Given the description of an element on the screen output the (x, y) to click on. 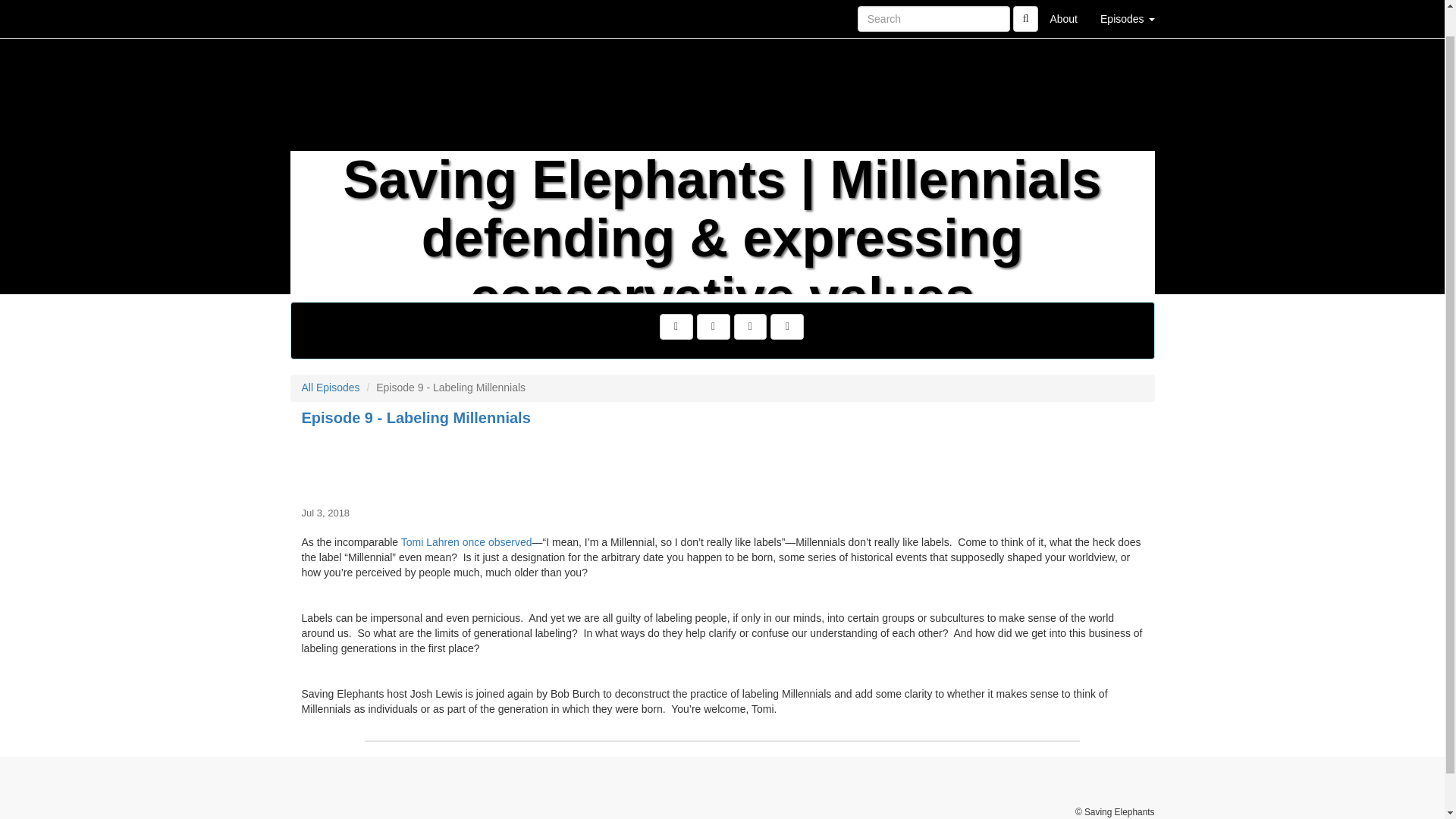
Email This Podcast (750, 326)
Visit Us on Twitter (713, 326)
Subscribe to RSS Feed (786, 326)
Visit Us on Facebook (676, 326)
Home Page (320, 4)
Episodes (1127, 4)
About (1063, 4)
Episode 9 - Labeling Millennials (721, 463)
